Given the description of an element on the screen output the (x, y) to click on. 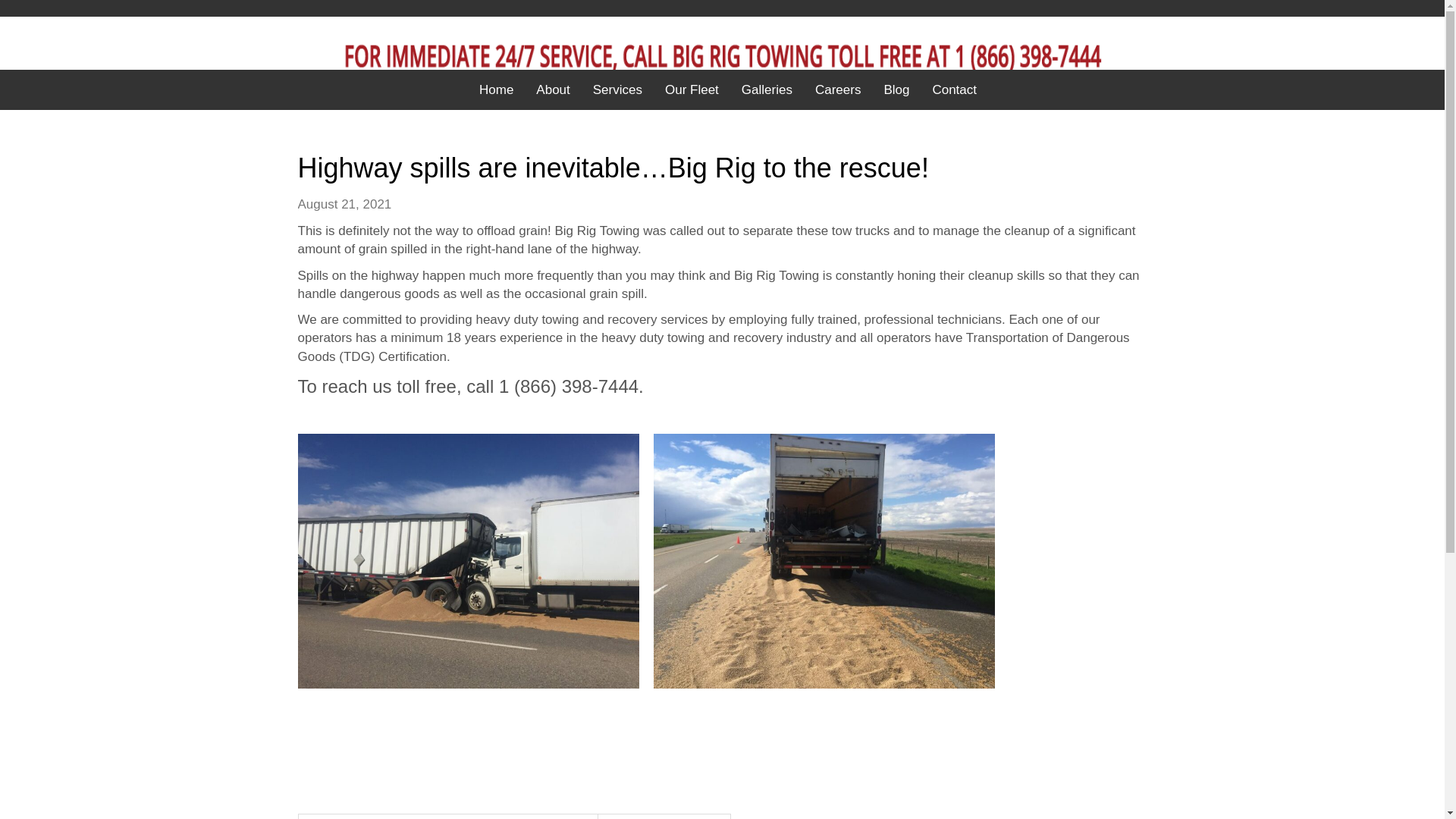
Careers (837, 90)
Contact (954, 90)
Forklift Relocation (663, 816)
Services (616, 90)
Blog (896, 90)
Home (495, 90)
Our Fleet (691, 90)
Galleries (766, 90)
About (552, 90)
In the process of moving, but still here to serve! (446, 816)
